Given the description of an element on the screen output the (x, y) to click on. 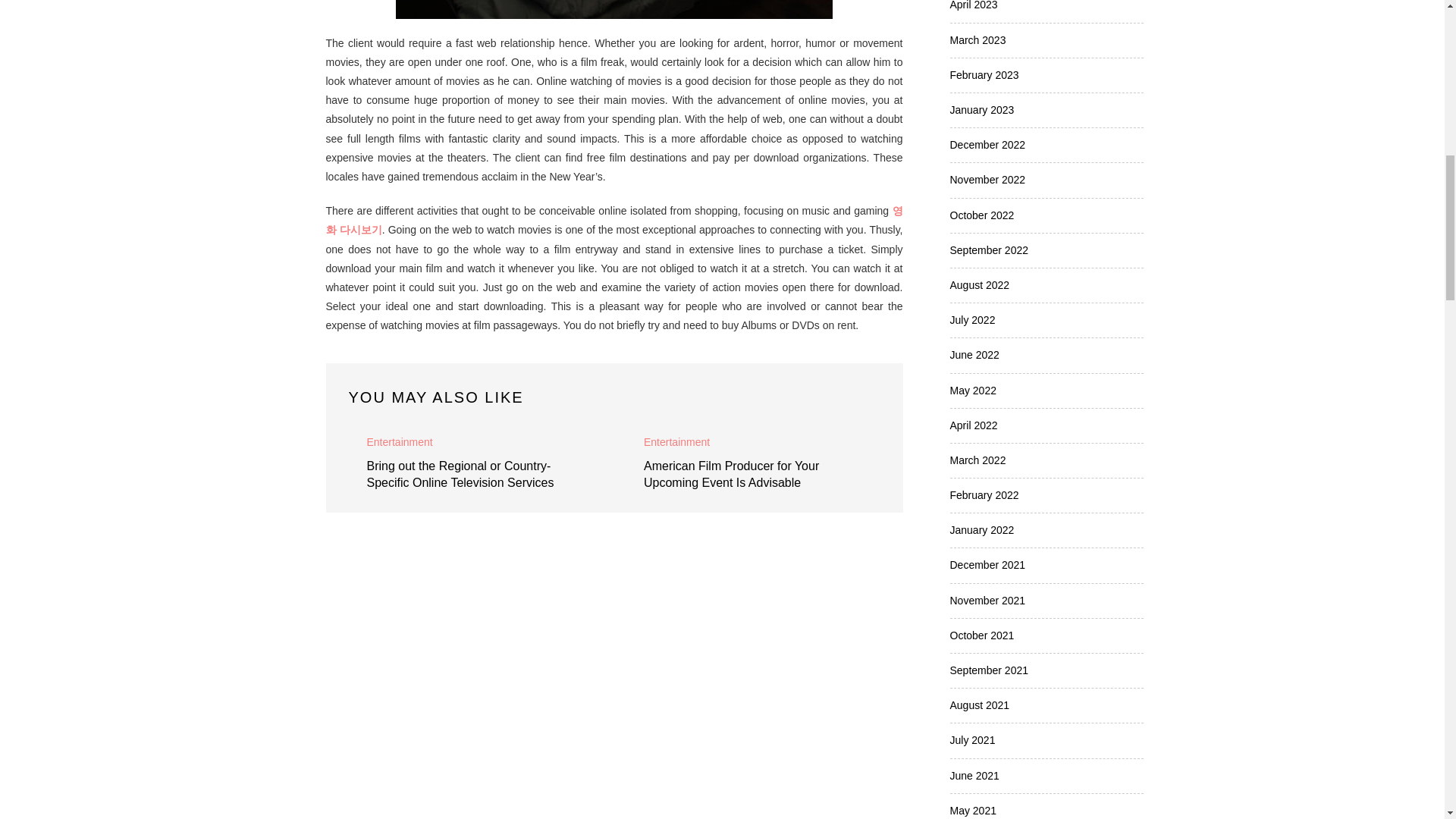
Entertainment (399, 441)
January 2023 (981, 110)
October 2022 (981, 215)
March 2023 (977, 39)
November 2022 (987, 179)
American Film Producer for Your Upcoming Event Is Advisable (730, 473)
December 2022 (987, 144)
Entertainment (676, 441)
April 2023 (973, 5)
September 2022 (988, 250)
February 2023 (983, 74)
